Given the description of an element on the screen output the (x, y) to click on. 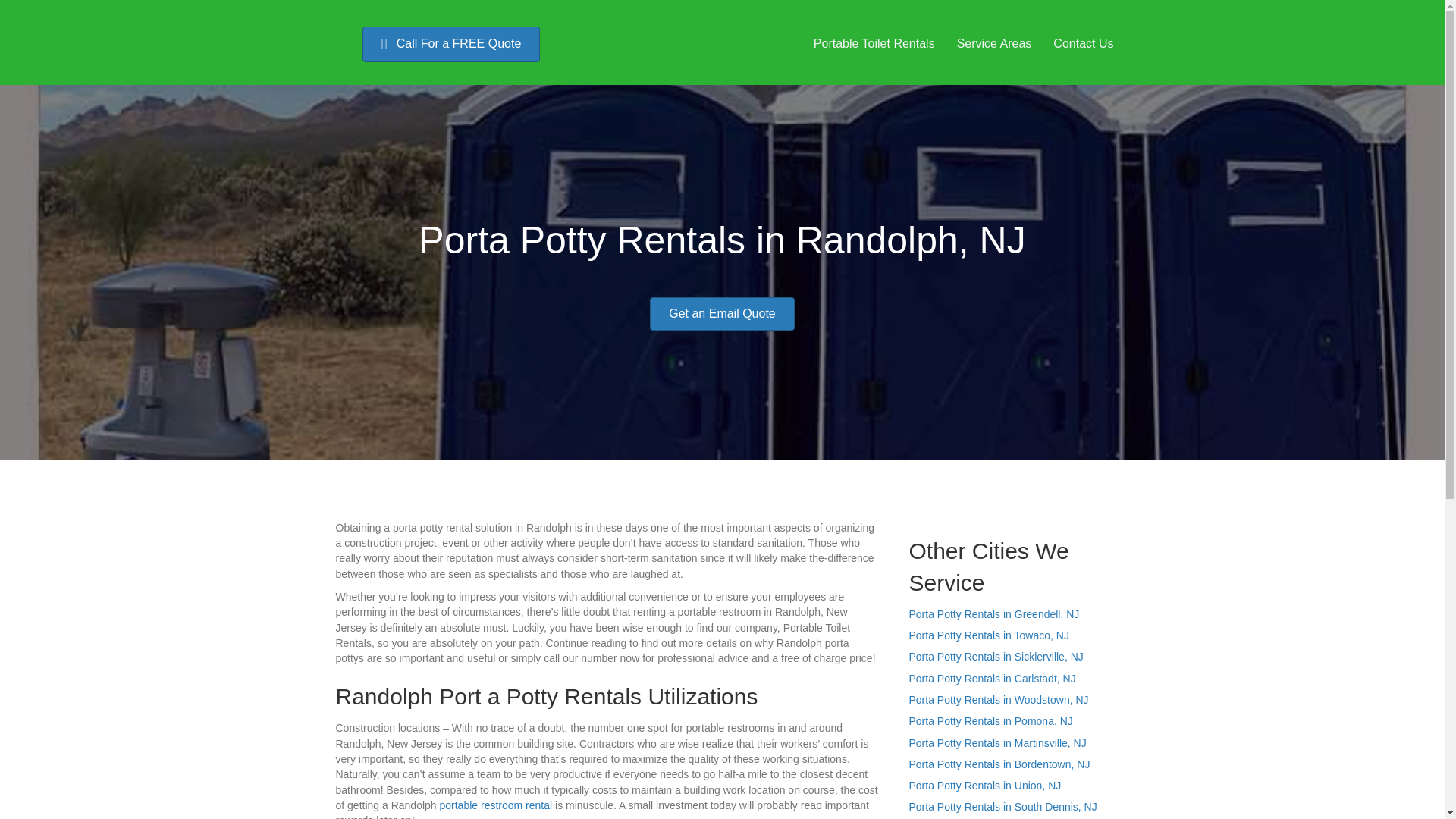
Contact Us (1083, 43)
Portable Toilet Rentals (873, 43)
Porta Potty Rentals in Bordentown, NJ (998, 764)
Get an Email Quote (721, 313)
Porta Potty Rentals in Woodstown, NJ (997, 699)
Porta Potty Rentals in Bordentown, NJ (998, 764)
Porta Potty Rentals in Towaco, NJ (988, 635)
Call For a FREE Quote (451, 44)
Porta Potty Rentals in Union, NJ (984, 785)
Porta Potty Rentals in Towaco, NJ (988, 635)
Porta Potty Rentals in Sicklerville, NJ (995, 656)
Porta Potty Rentals in Martinsville, NJ (997, 743)
Service Areas (994, 43)
Porta Potty Rentals in Sicklerville, NJ (995, 656)
portable restroom rental (496, 805)
